Given the description of an element on the screen output the (x, y) to click on. 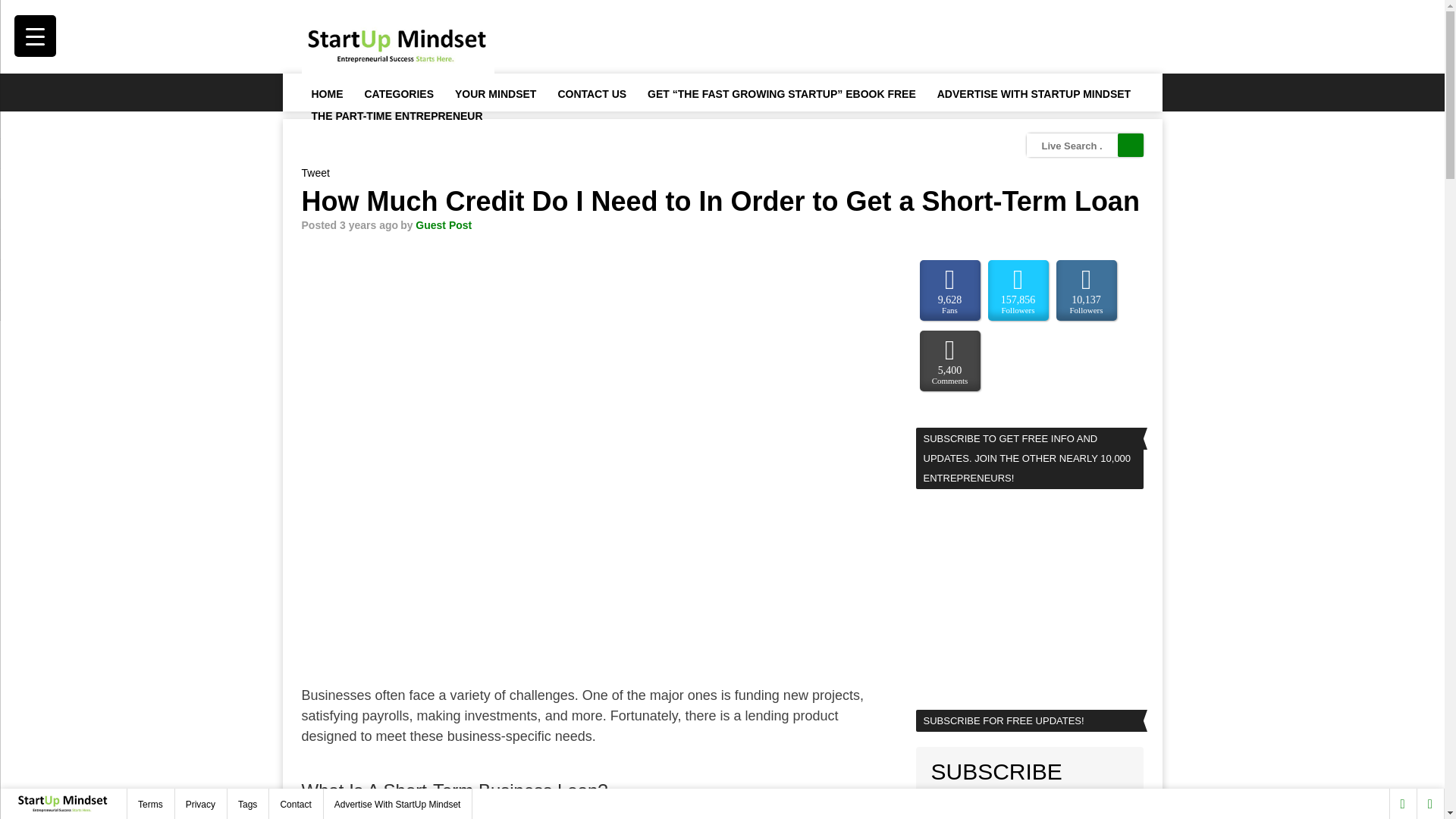
CATEGORIES (399, 92)
HOME (326, 92)
ADVERTISE WITH STARTUP MINDSET (1033, 92)
YOUR MINDSET (494, 92)
Posts by Guest Post (442, 224)
Guest Post (442, 224)
Tweet (315, 173)
CONTACT US (590, 92)
Search (1130, 145)
Search (1130, 145)
